Given the description of an element on the screen output the (x, y) to click on. 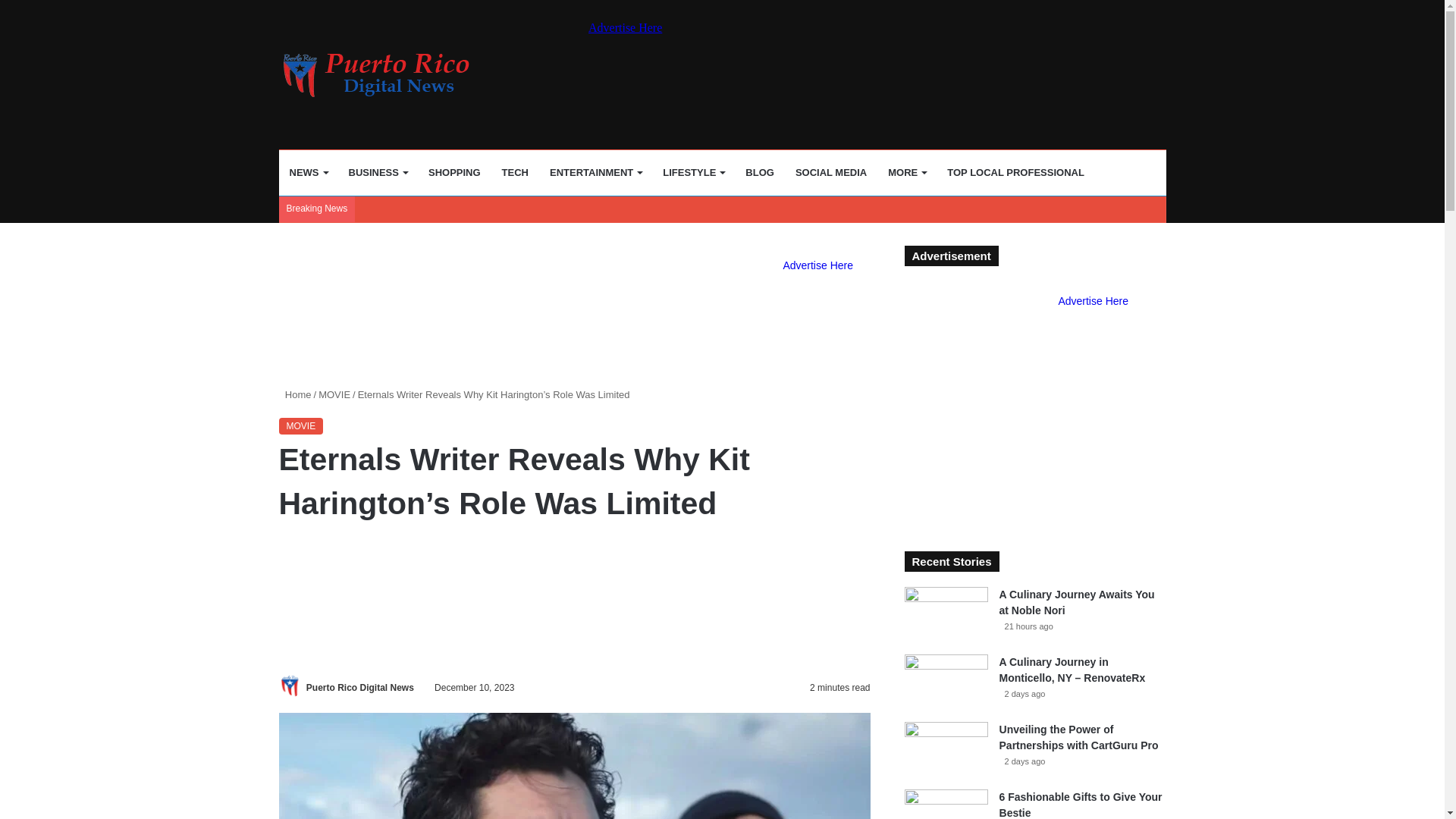
ENTERTAINMENT (595, 172)
Puerto Rico Digital News (359, 687)
Puertorico Digital News (383, 75)
NEWS (308, 172)
MORE (906, 172)
BLOG (759, 172)
LIFESTYLE (693, 172)
TOP LOCAL PROFESSIONAL (1015, 172)
SHOPPING (454, 172)
SOCIAL MEDIA (830, 172)
TECH (515, 172)
BUSINESS (377, 172)
